Given the description of an element on the screen output the (x, y) to click on. 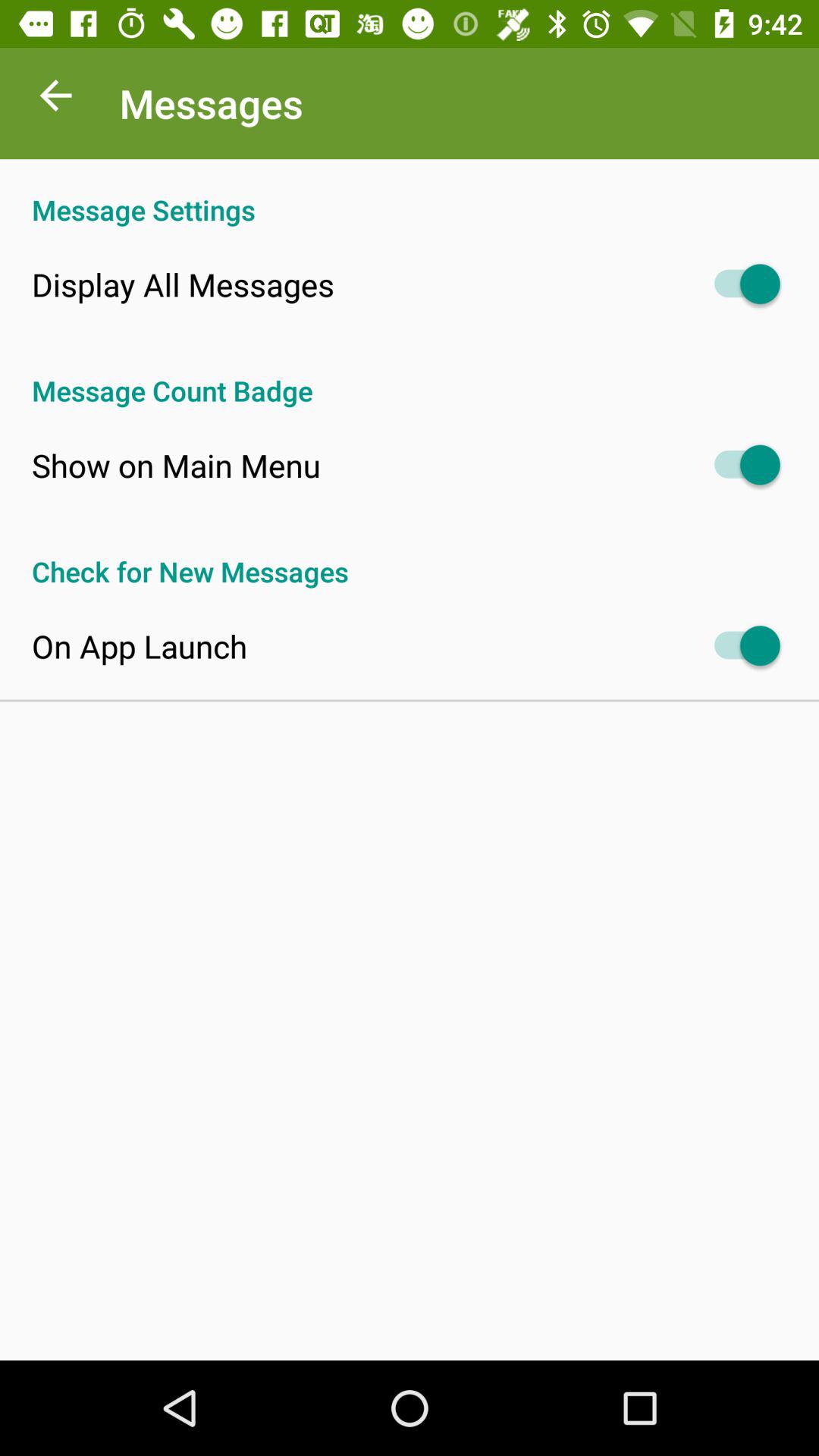
turn off the app below the message settings icon (182, 283)
